Given the description of an element on the screen output the (x, y) to click on. 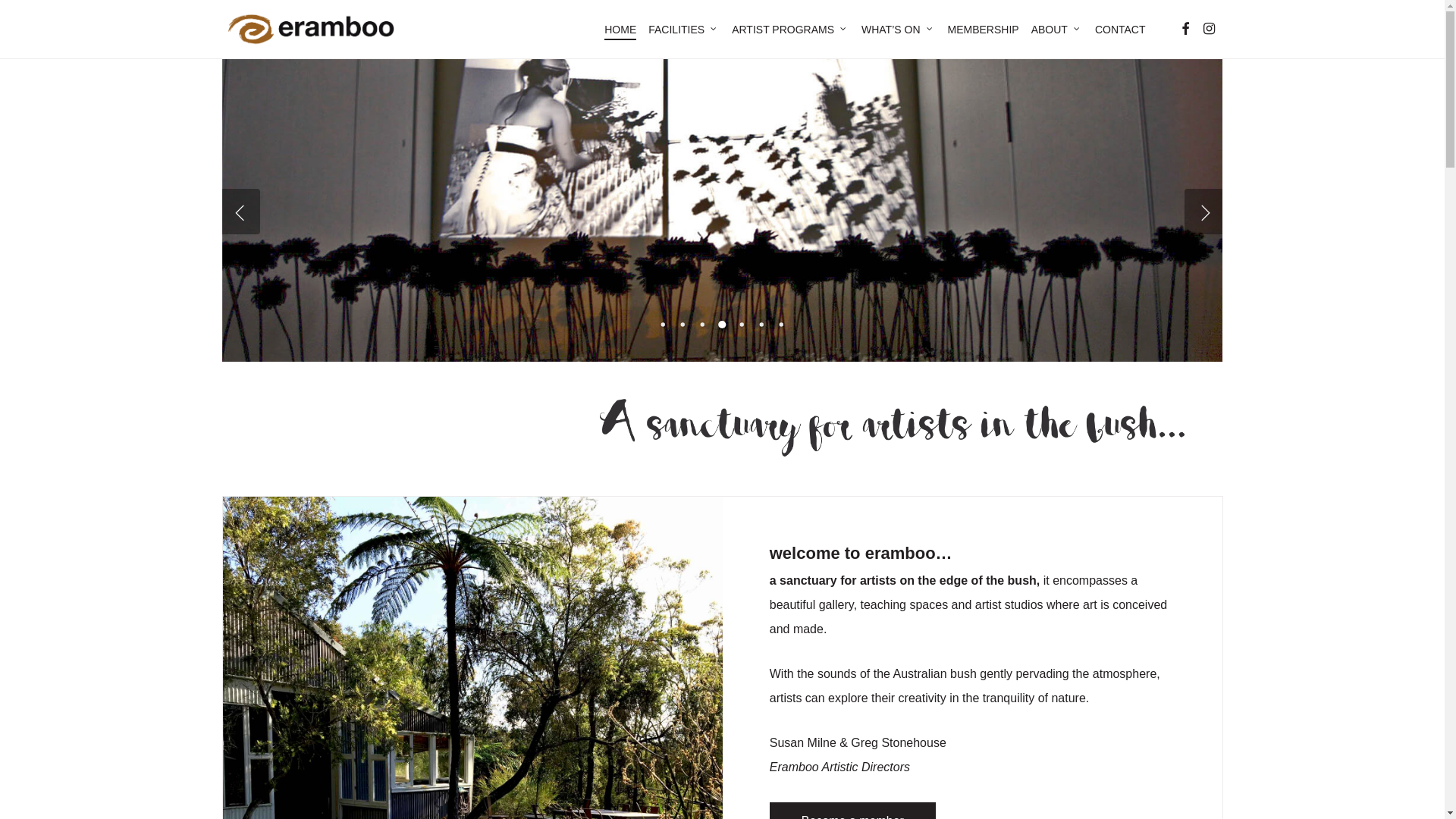
CONTACT Element type: text (1120, 29)
FACILITIES Element type: text (683, 29)
ARTIST PROGRAMS Element type: text (790, 29)
MEMBERSHIP Element type: text (983, 29)
ABOUT Element type: text (1056, 29)
INSTAGRAM Element type: text (1208, 28)
HOME Element type: text (620, 29)
FACEBOOK Element type: text (1184, 28)
